Given the description of an element on the screen output the (x, y) to click on. 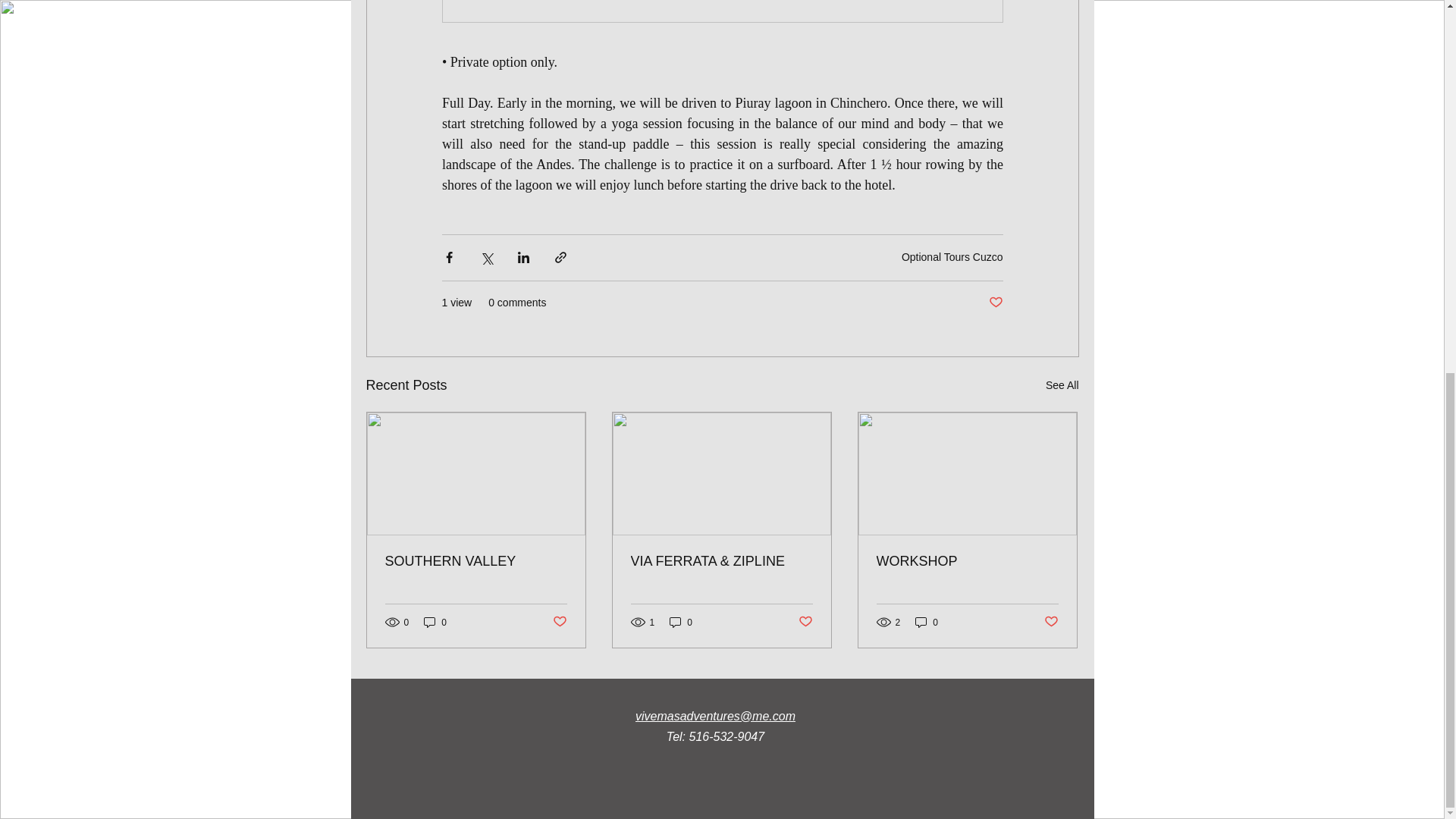
Optional Tours Cuzco (952, 256)
0 (681, 622)
SOUTHERN VALLEY (476, 561)
Post not marked as liked (995, 302)
See All (1061, 385)
Post not marked as liked (558, 621)
0 (435, 622)
